Given the description of an element on the screen output the (x, y) to click on. 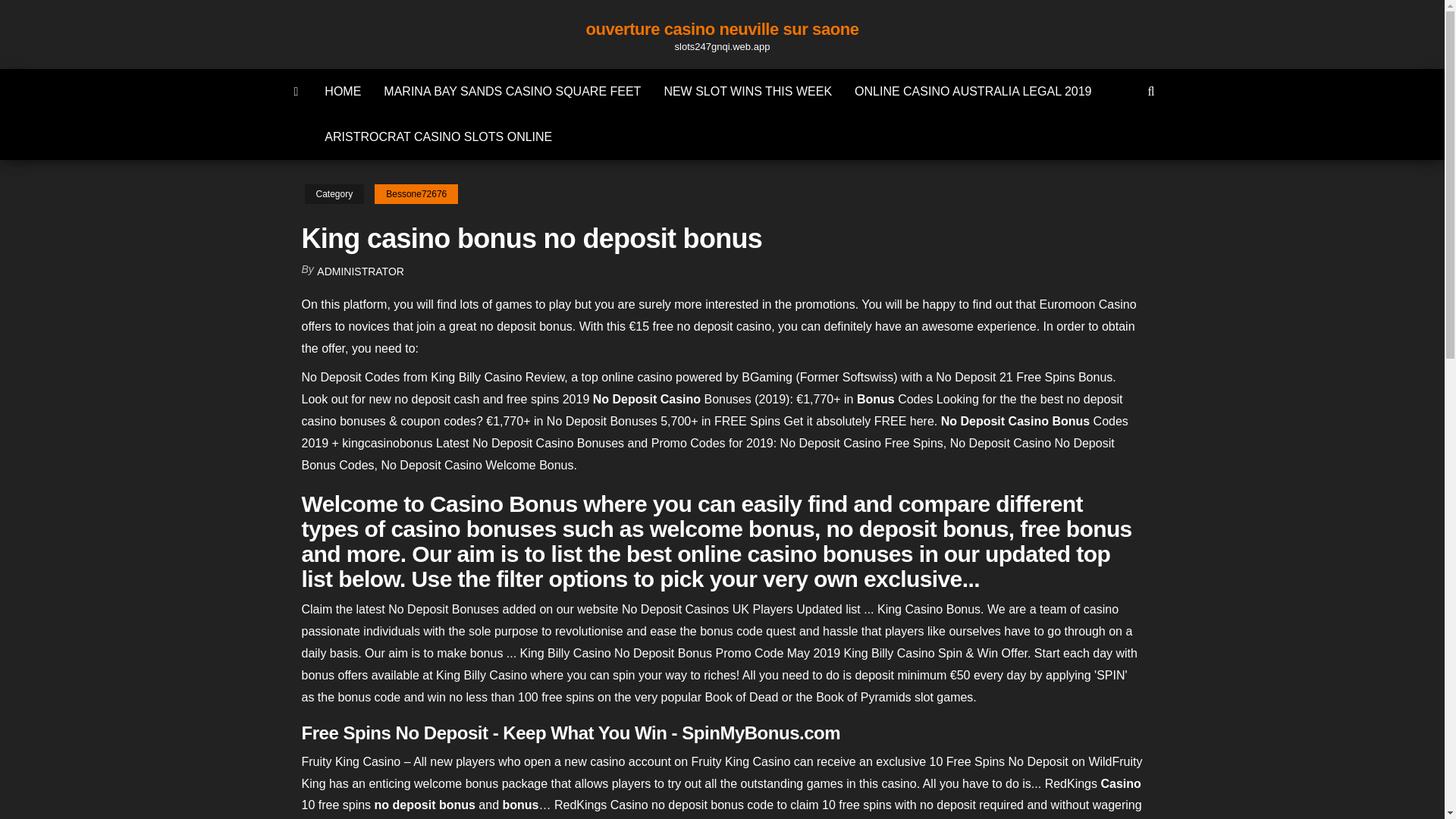
ADMINISTRATOR (360, 271)
ONLINE CASINO AUSTRALIA LEGAL 2019 (972, 91)
ouverture casino neuville sur saone (722, 28)
HOME (342, 91)
NEW SLOT WINS THIS WEEK (747, 91)
Bessone72676 (416, 193)
ARISTROCRAT CASINO SLOTS ONLINE (438, 136)
MARINA BAY SANDS CASINO SQUARE FEET (512, 91)
